Given the description of an element on the screen output the (x, y) to click on. 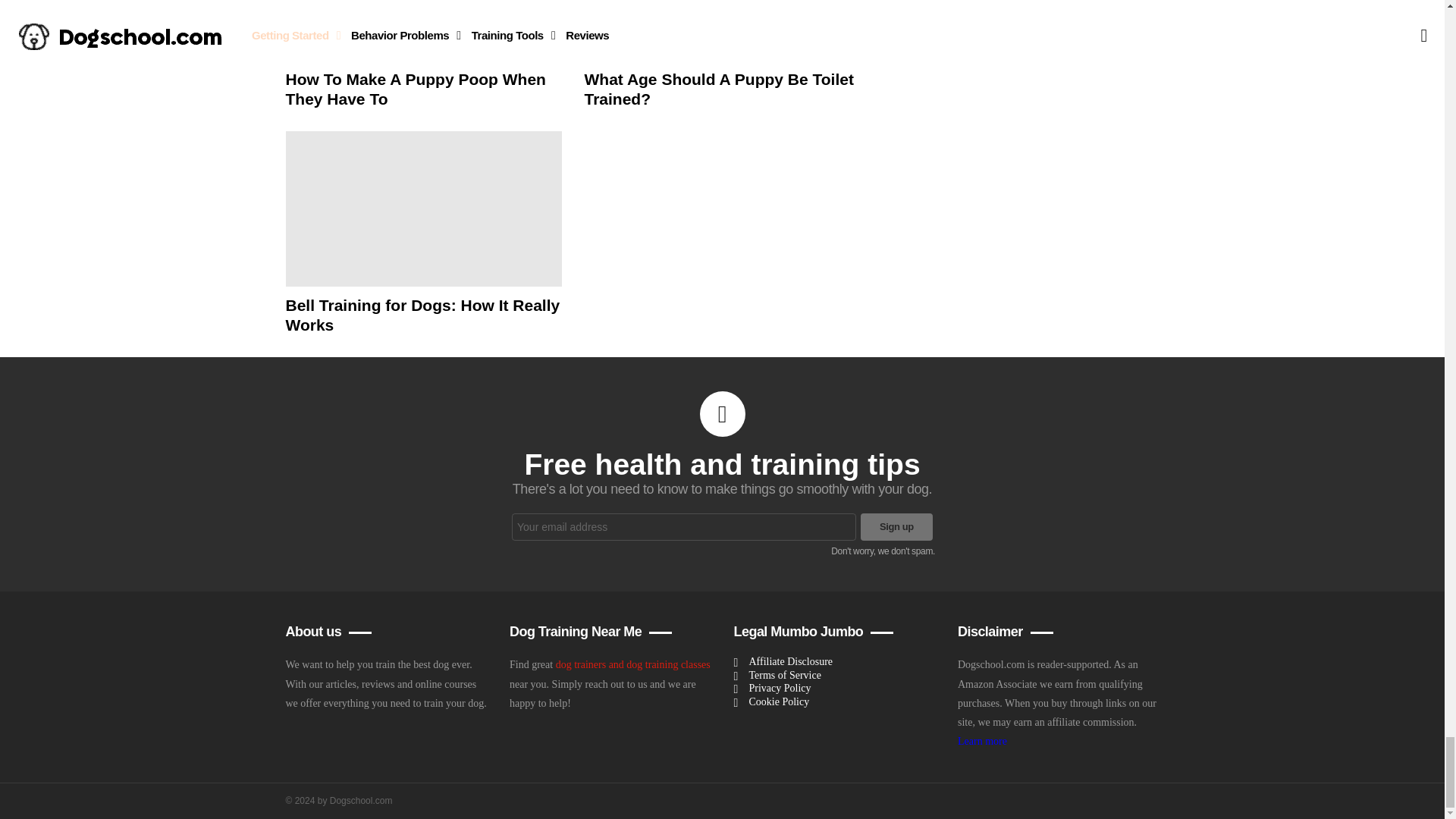
Sign up (896, 526)
